Given the description of an element on the screen output the (x, y) to click on. 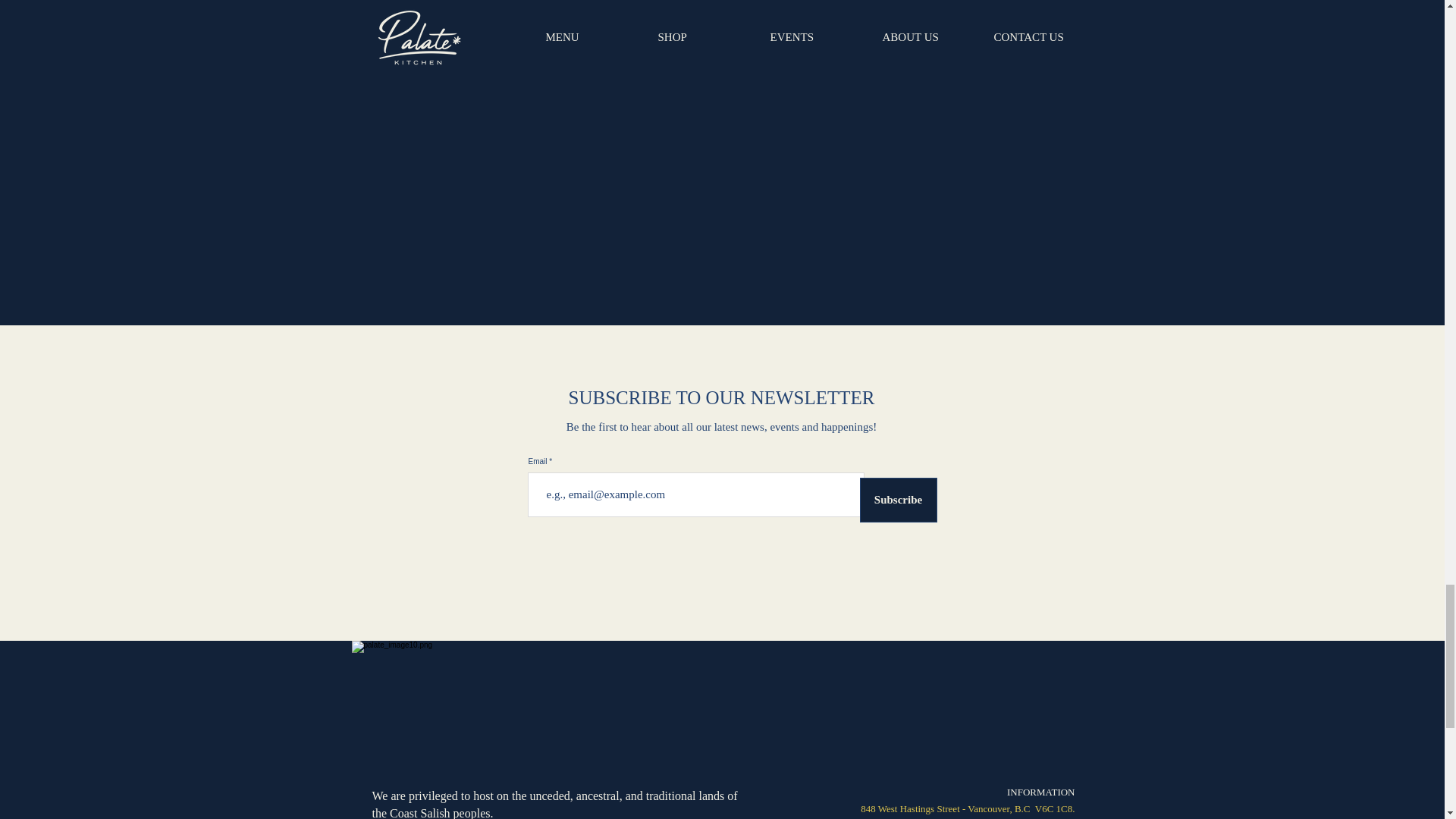
Subscribe (898, 499)
FOLLOW US ON INSTAGRAM (722, 17)
